Given the description of an element on the screen output the (x, y) to click on. 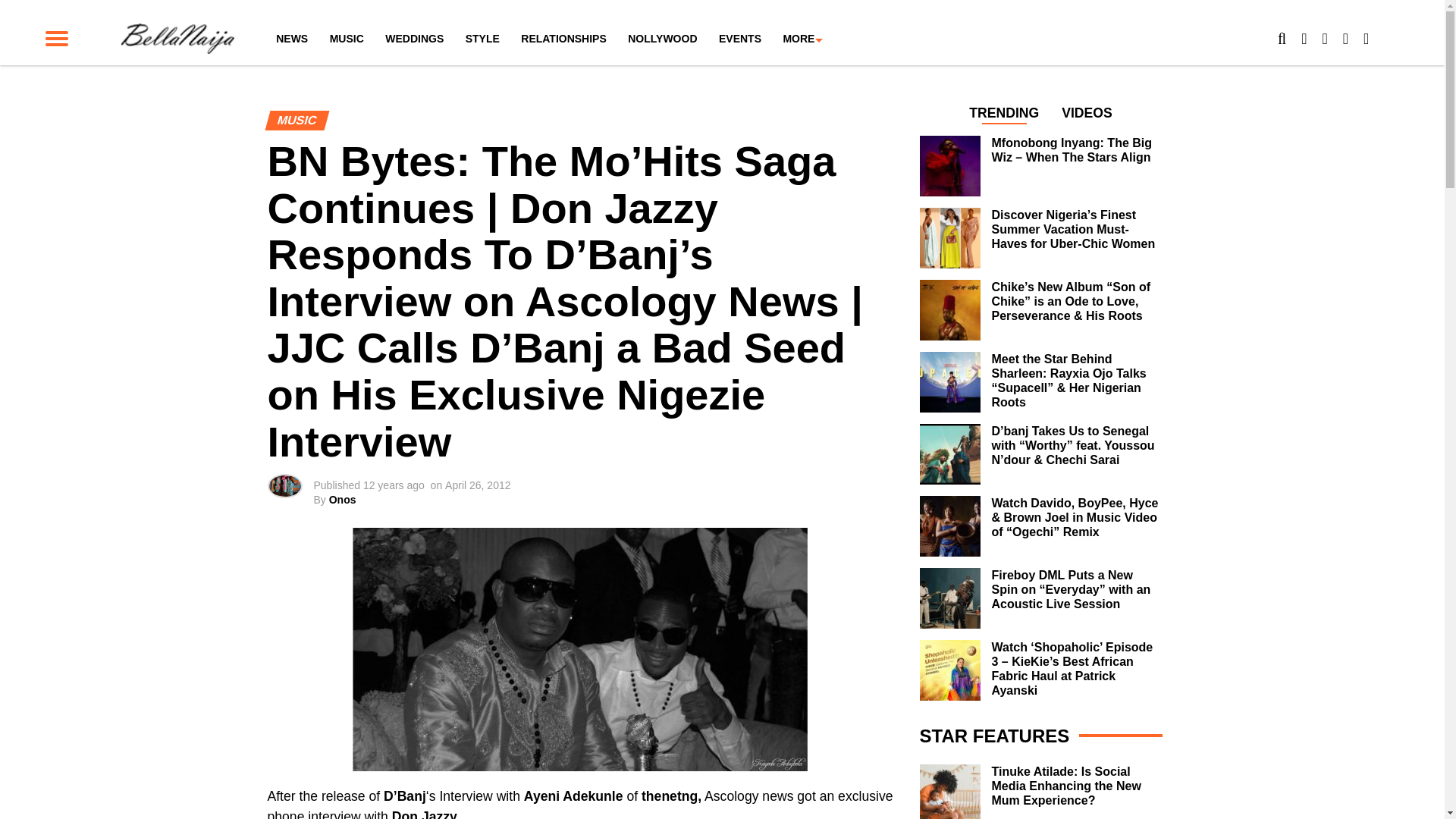
NOLLYWOOD (662, 38)
EVENTS (740, 38)
RELATIONSHIPS (563, 38)
NEWS (291, 38)
WEDDINGS (413, 38)
STYLE (482, 38)
MUSIC (346, 38)
MORE (798, 38)
